Given the description of an element on the screen output the (x, y) to click on. 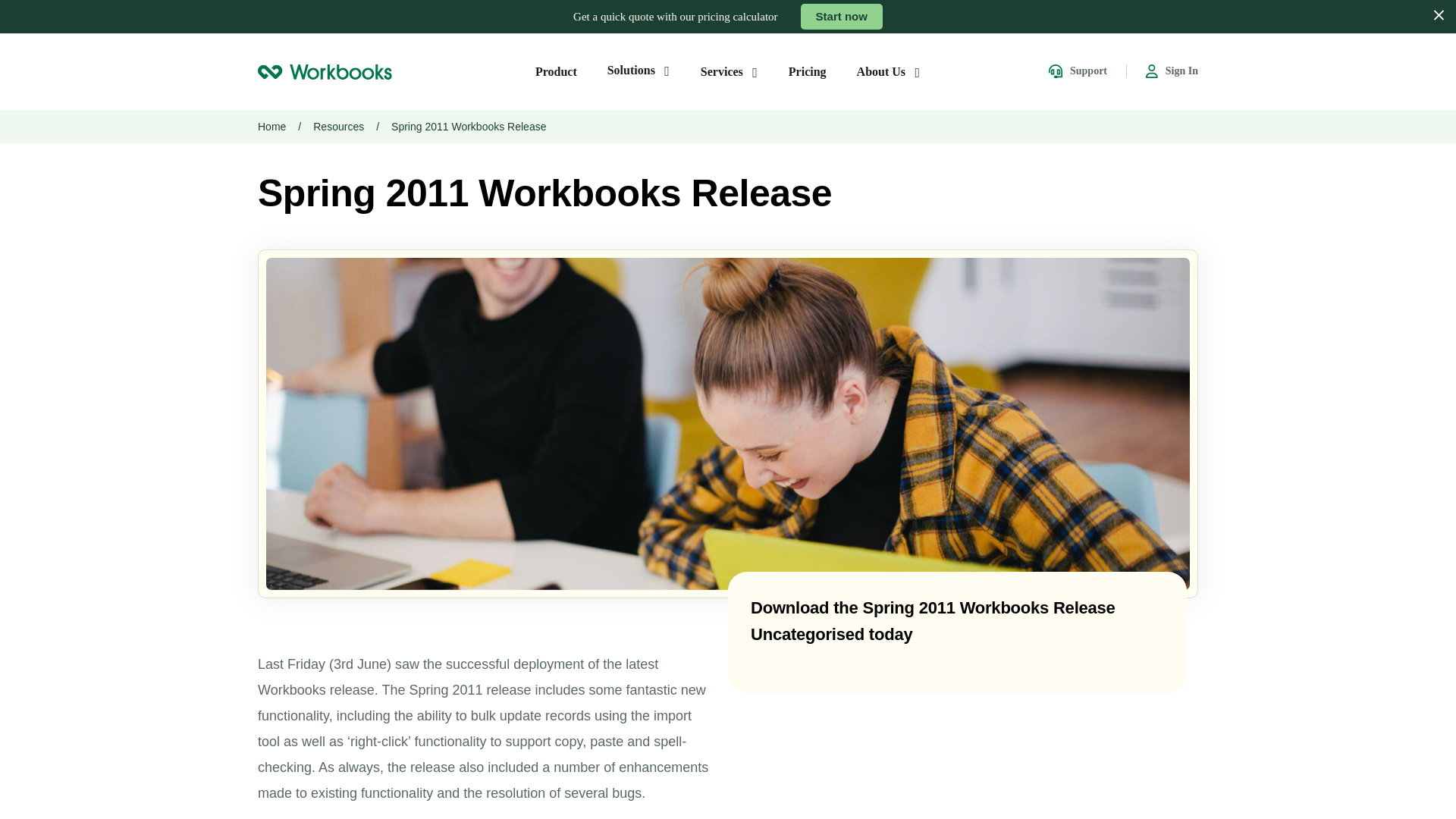
Sign In (1171, 70)
About Us (888, 71)
Solutions (638, 69)
Product (555, 71)
Services (729, 71)
Start now (841, 16)
Pricing (808, 71)
Support (1077, 70)
